Given the description of an element on the screen output the (x, y) to click on. 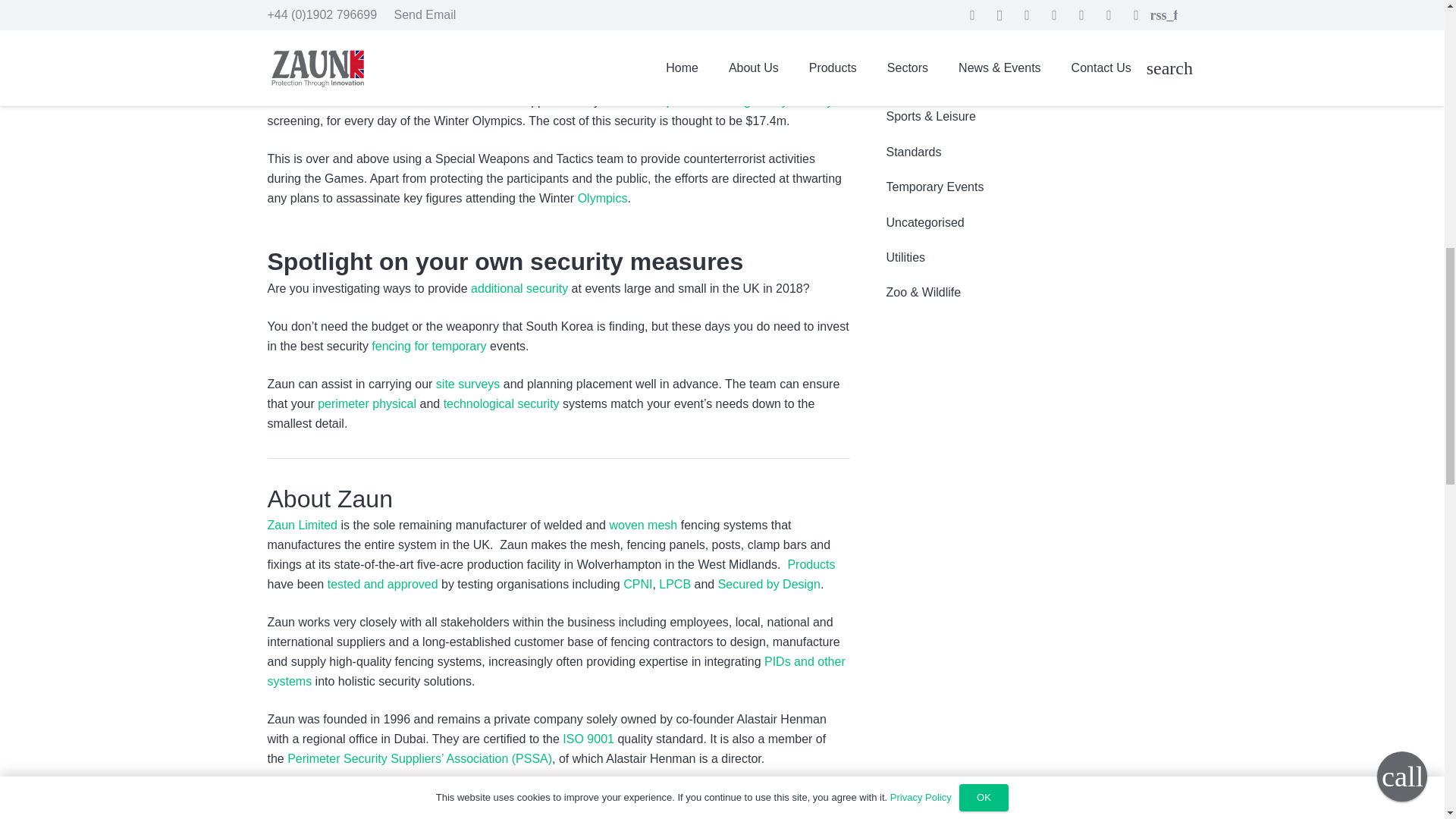
Olympics legacy (602, 197)
How to make the most of your temporary fencing (428, 345)
The World Cup is over, and the winner is: Fencing (642, 42)
Three industries that need additional security (518, 287)
woven mesh (642, 524)
